Given the description of an element on the screen output the (x, y) to click on. 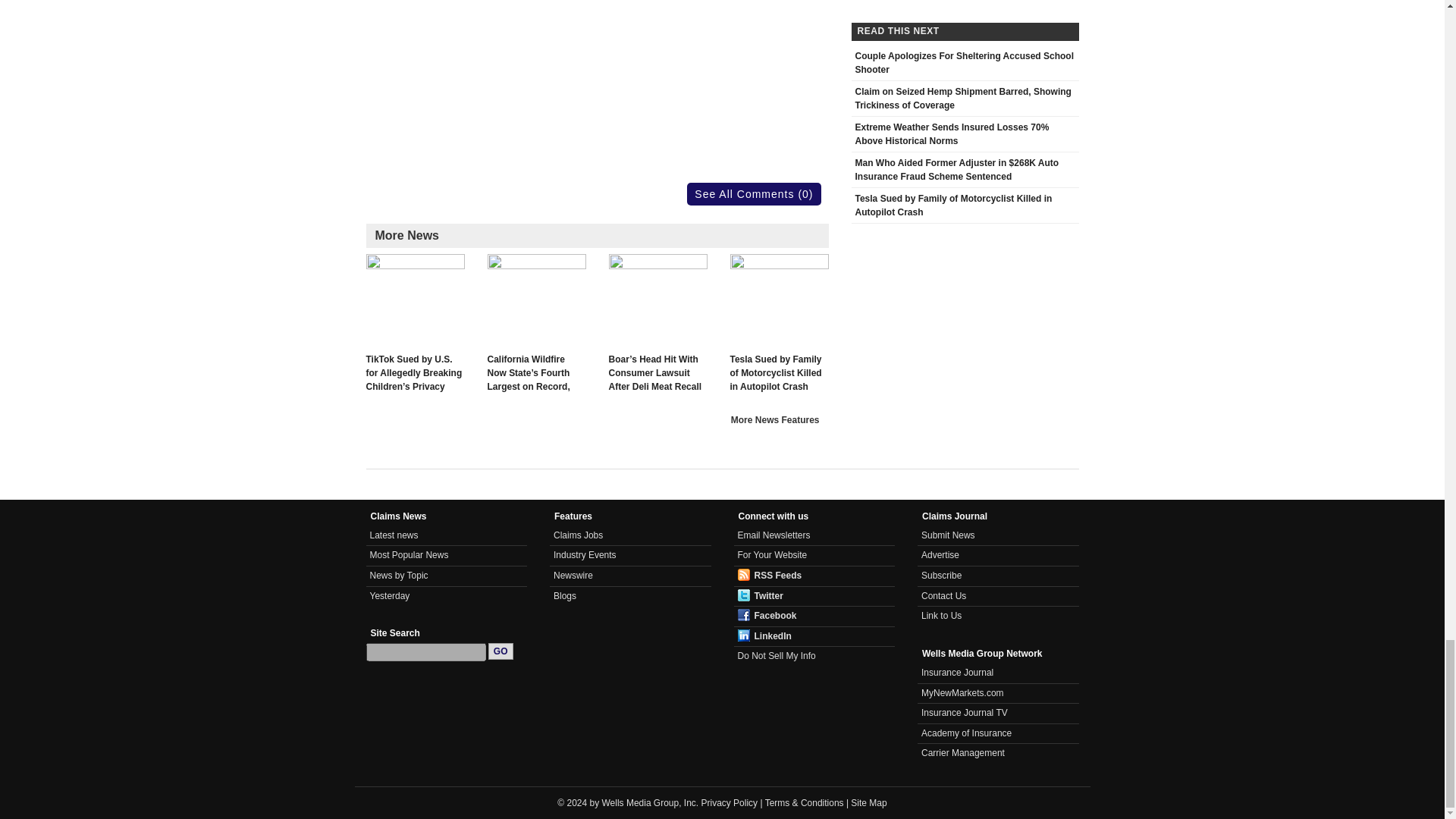
Insurance Market Search Engine (962, 692)
Insurance News by Topic (398, 575)
Go (500, 651)
